Given the description of an element on the screen output the (x, y) to click on. 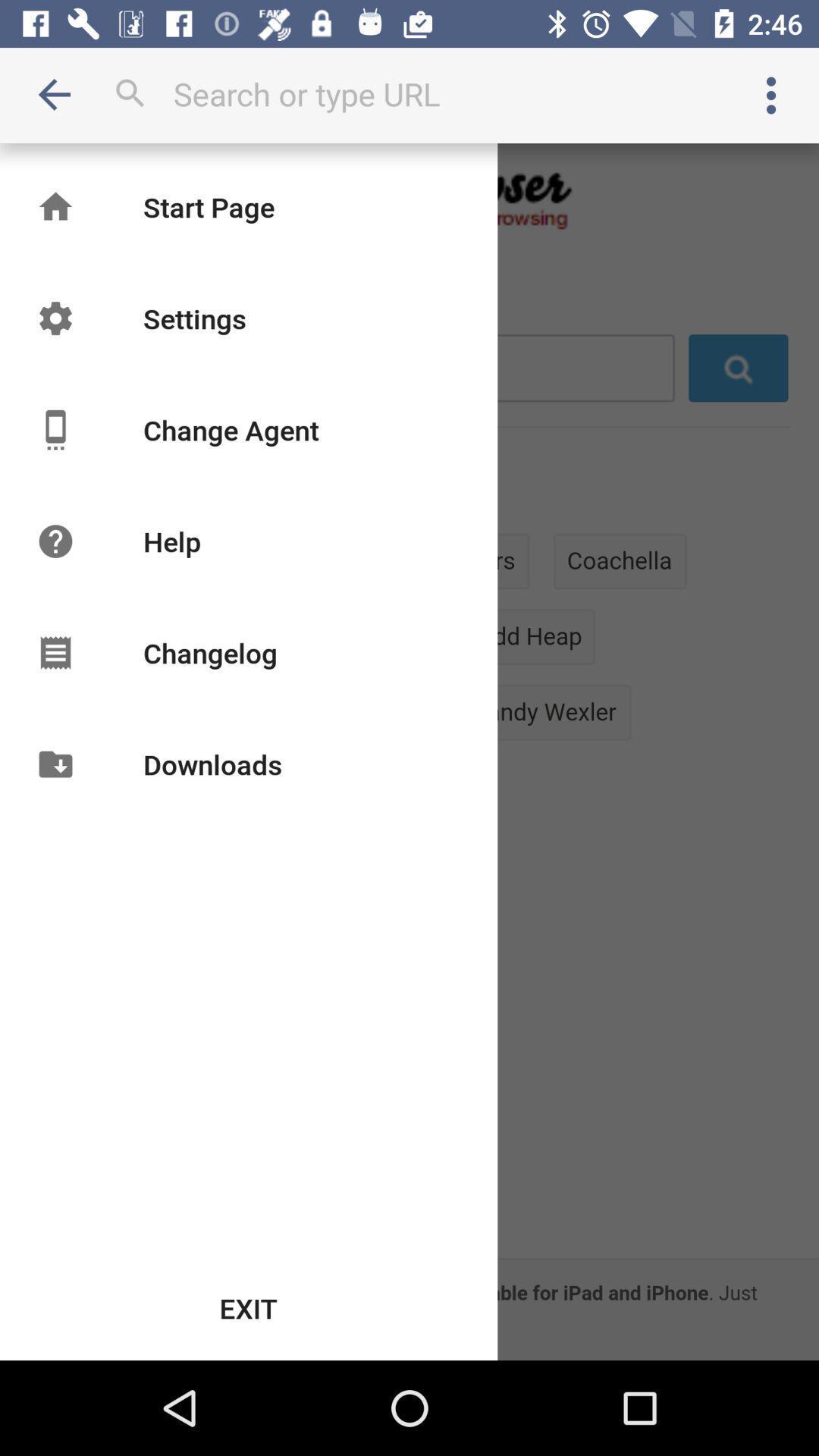
choose changelog (210, 652)
